Given the description of an element on the screen output the (x, y) to click on. 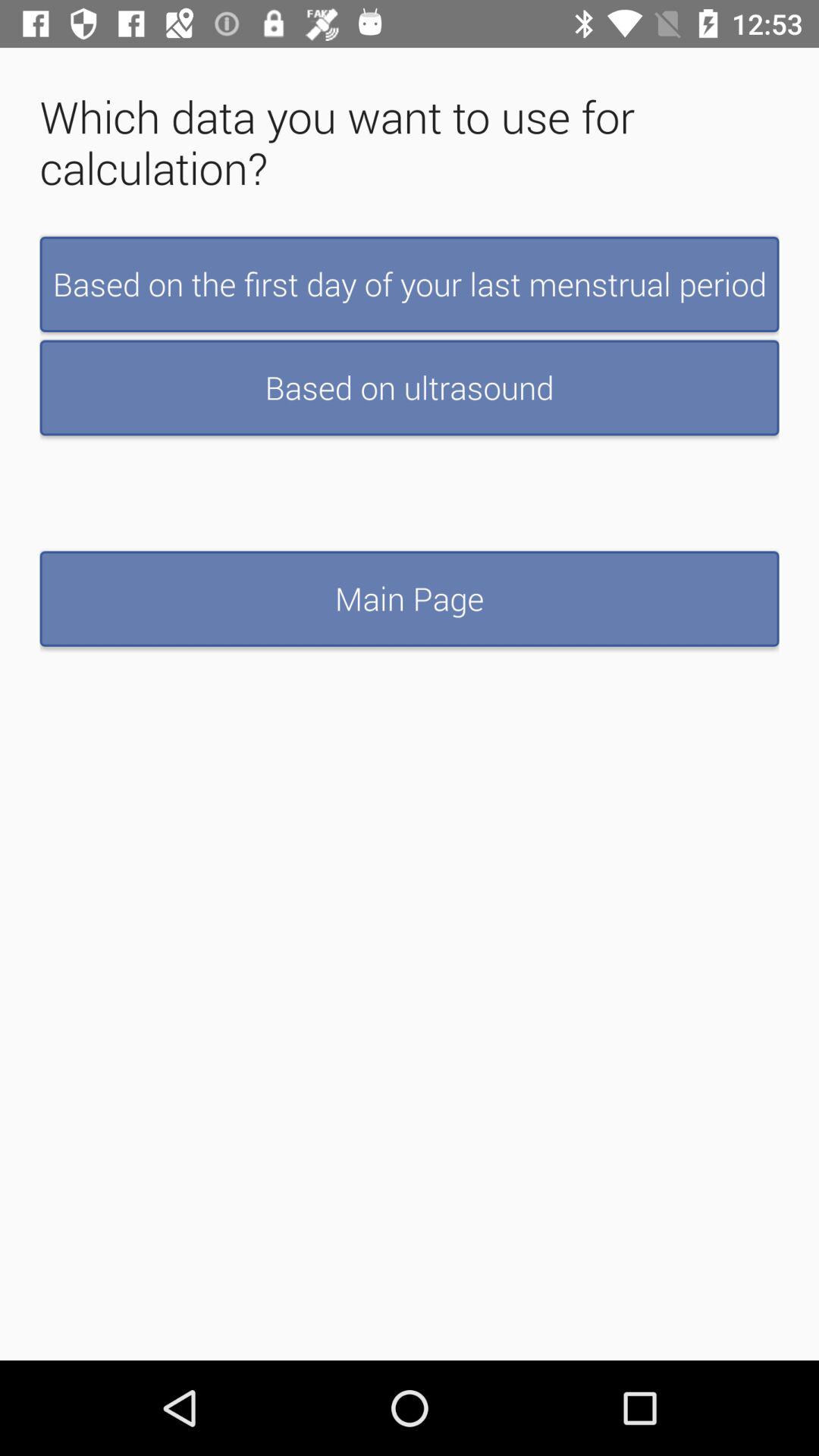
select the main page button (409, 598)
